Given the description of an element on the screen output the (x, y) to click on. 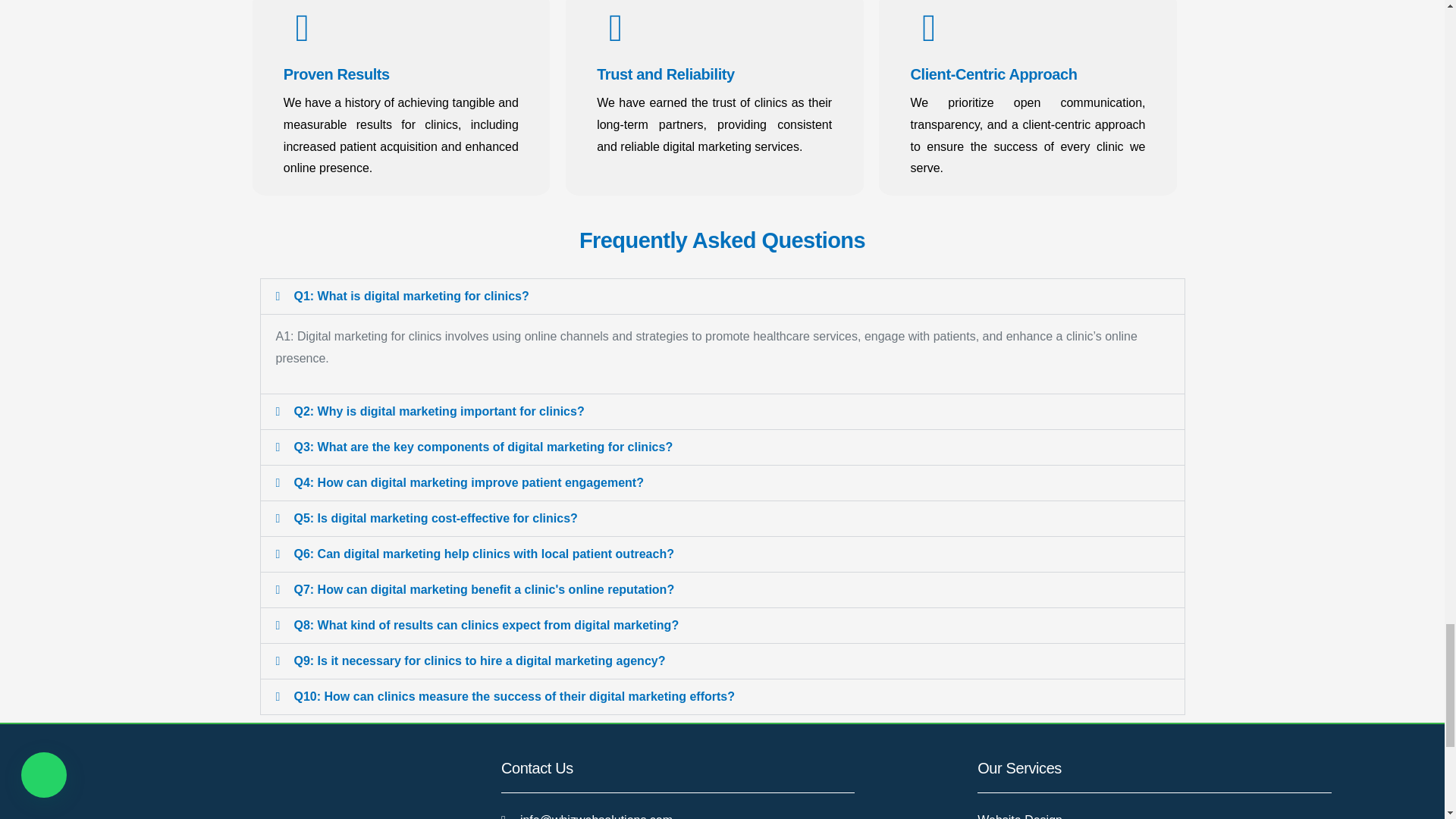
Q1: What is digital marketing for clinics? (411, 295)
Q2: Why is digital marketing important for clinics? (439, 410)
Q4: How can digital marketing improve patient engagement? (468, 481)
Website Design (1197, 814)
Q5: Is digital marketing cost-effective for clinics? (436, 517)
